Given the description of an element on the screen output the (x, y) to click on. 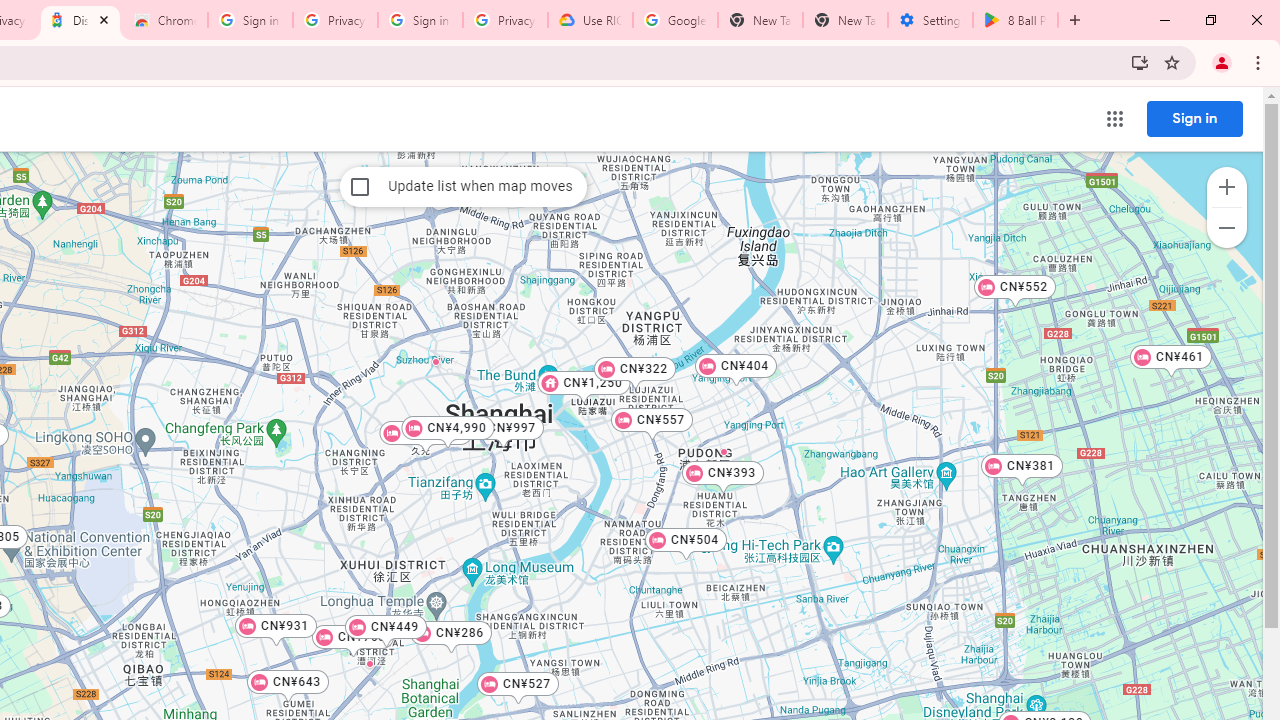
Sign in - Google Accounts (250, 20)
Parkline Century Park Hotel Shanghai (723, 451)
Discover Hotels For Your Next Trip - Google hotels (80, 20)
Settings - System (930, 20)
8 Ball Pool - Apps on Google Play (1015, 20)
Chrome Web Store - Color themes by Chrome (165, 20)
